Given the description of an element on the screen output the (x, y) to click on. 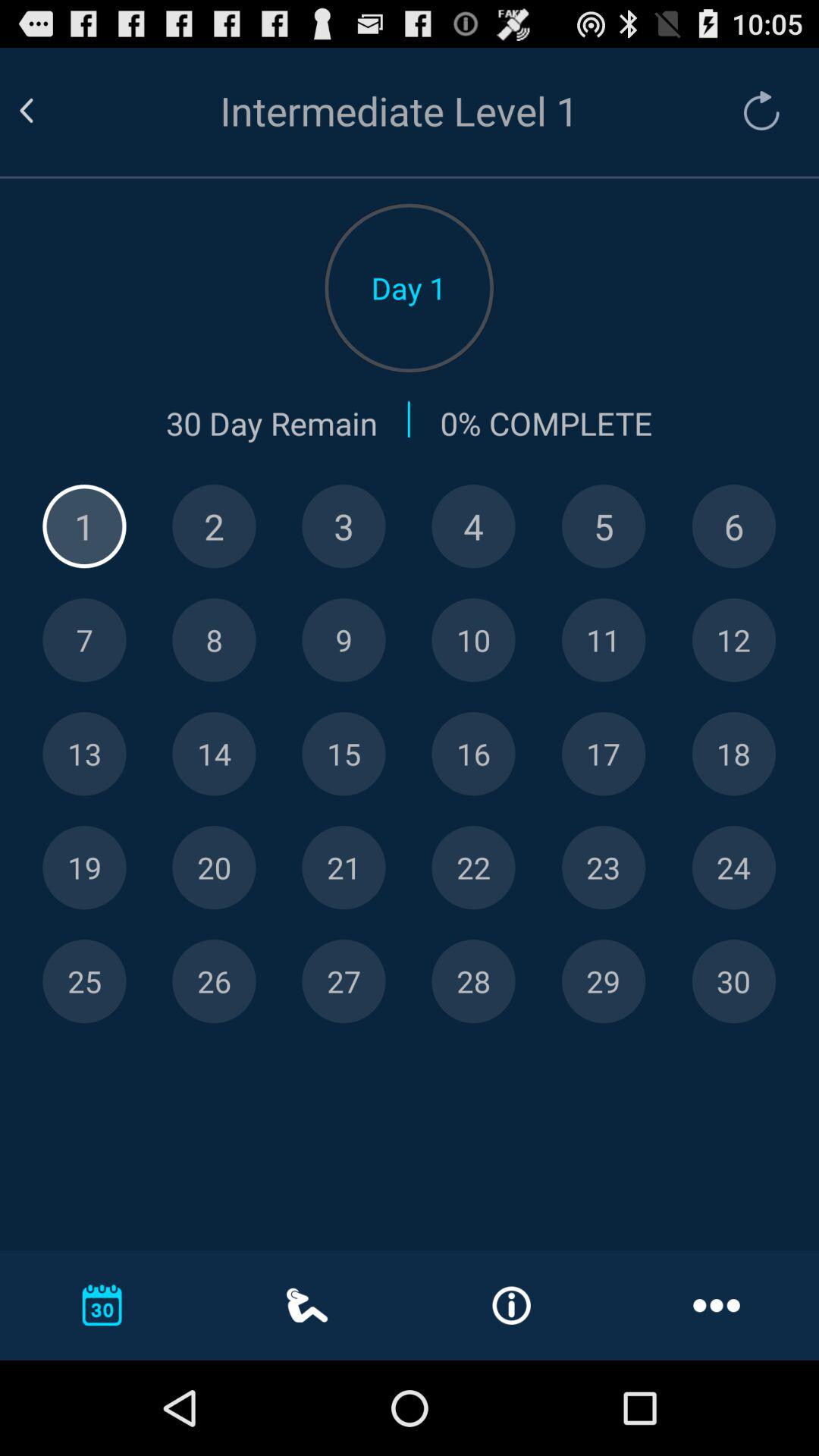
choose level (733, 639)
